Given the description of an element on the screen output the (x, y) to click on. 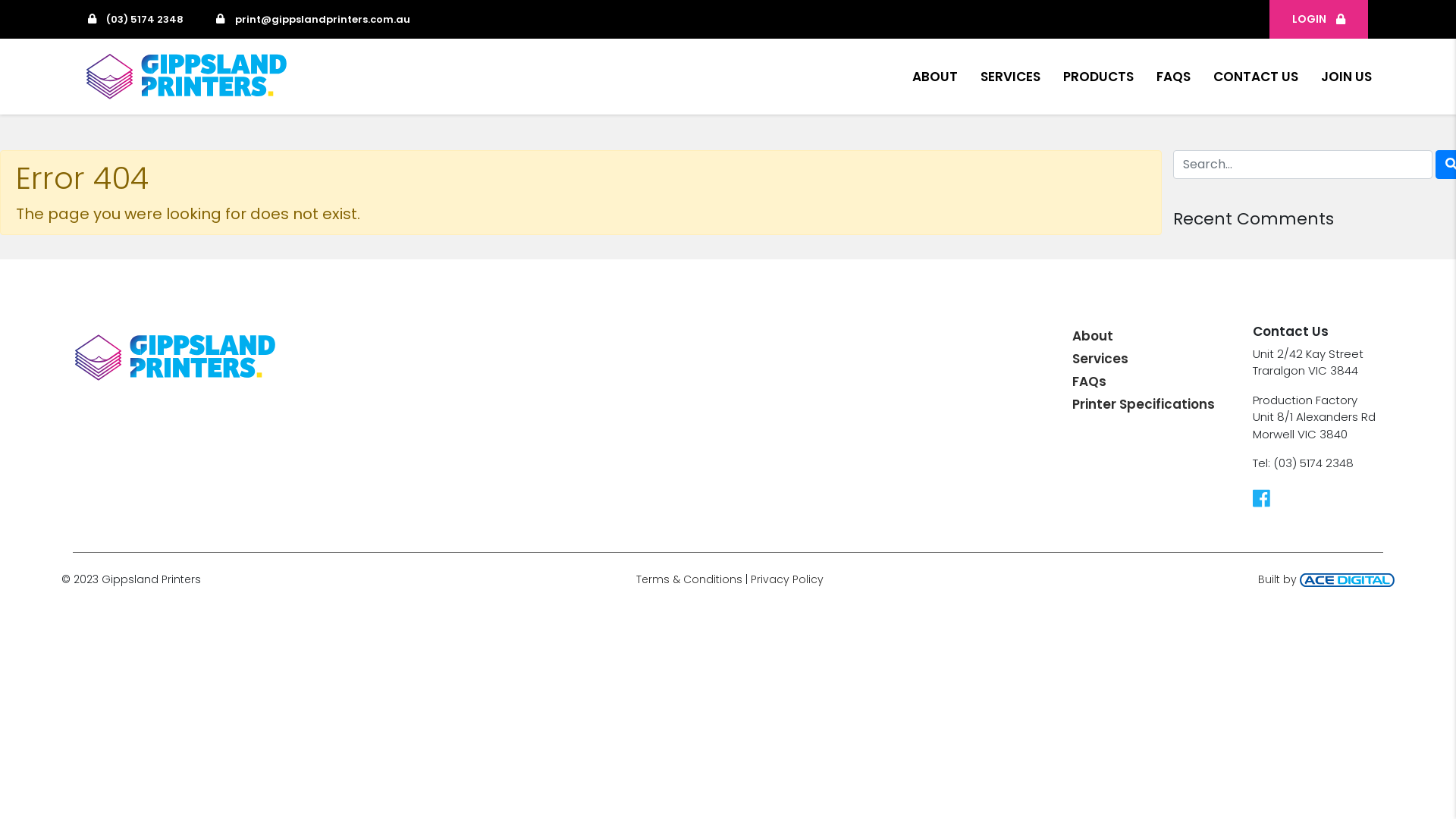
FAQs Element type: text (1089, 381)
FAQS Element type: text (1173, 76)
Terms & Conditions Element type: text (688, 578)
Printer Specifications Element type: text (1143, 404)
CONTACT US Element type: text (1255, 76)
print@gippslandprinters.com.au Element type: text (312, 19)
(03) 5174 2348 Element type: text (135, 19)
Services Element type: text (1100, 358)
SERVICES Element type: text (1010, 76)
ABOUT Element type: text (934, 76)
Privacy Policy Element type: text (786, 578)
PRODUCTS Element type: text (1098, 76)
JOIN US Element type: text (1346, 76)
About Element type: text (1092, 335)
LOGIN Element type: text (1318, 19)
Built by Element type: text (1326, 578)
